Given the description of an element on the screen output the (x, y) to click on. 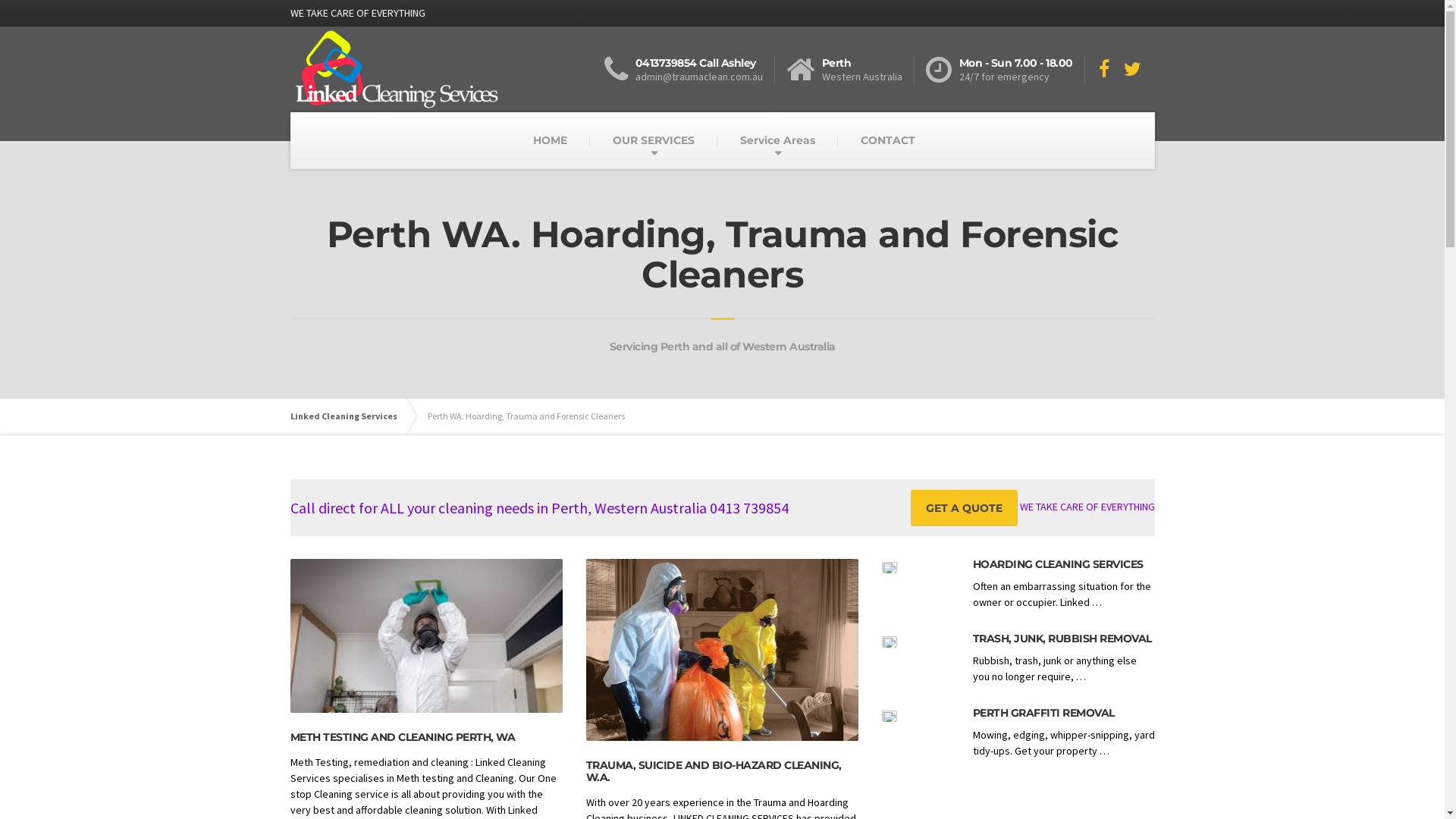
trauma | Linked Cleaning Services Element type: hover (888, 567)
tempImage2yM0Vt | Linked Cleaning Services Element type: hover (888, 715)
Perth
Western Australia Element type: text (849, 69)
Linked Cleaning Services Element type: text (350, 415)
lcs | Linked Cleaning Services Element type: hover (888, 641)
crime-scene-cleaning | Linked Cleaning Services Element type: hover (721, 649)
Service Areas Element type: text (777, 140)
PERTH GRAFFITI REMOVAL Element type: text (1042, 712)
TRASH, JUNK, RUBBISH REMOVAL Element type: text (1061, 638)
HOARDING CLEANING SERVICES Element type: text (1057, 564)
HOME Element type: text (549, 140)
METH TESTING AND CLEANING PERTH, WA Element type: text (401, 736)
CONTACT Element type: text (887, 140)
OUR SERVICES Element type: text (653, 140)
linked meth | Linked Cleaning Services Element type: hover (425, 635)
GET A QUOTE Element type: text (963, 507)
0413739854 Call Ashley
admin@traumaclean.com.au Element type: text (688, 69)
TRAUMA, SUICIDE AND BIO-HAZARD CLEANING, W.A. Element type: text (712, 770)
